Given the description of an element on the screen output the (x, y) to click on. 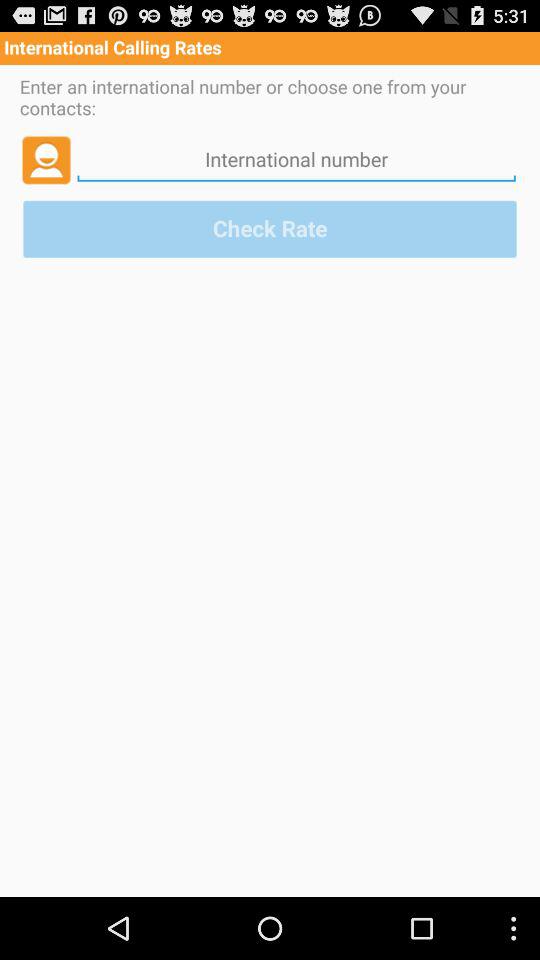
choose contact (46, 159)
